Given the description of an element on the screen output the (x, y) to click on. 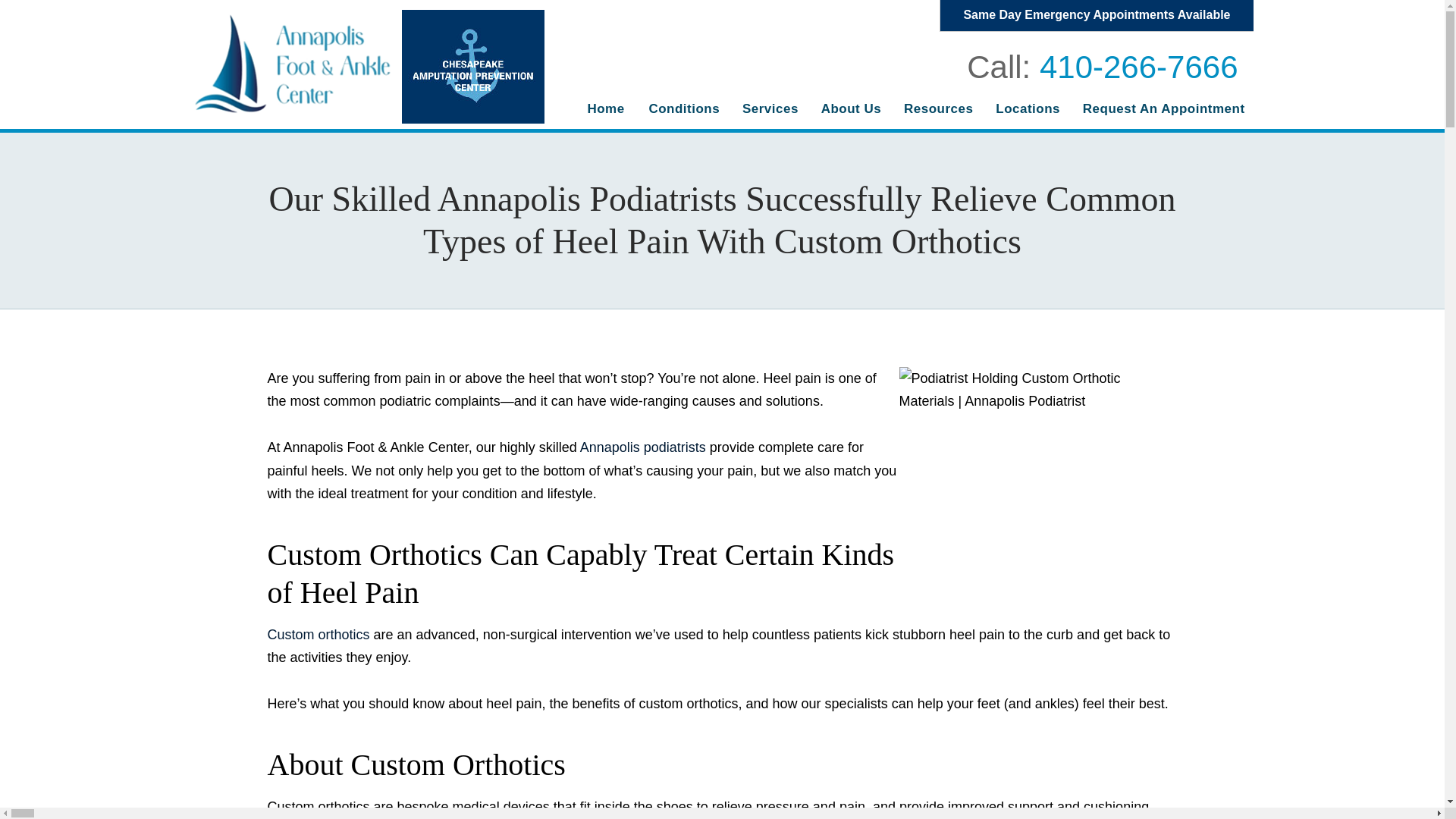
Conditions (683, 109)
410-266-7666 (1139, 67)
Home (605, 109)
Same Day Emergency Appointments Available (1096, 15)
About Us (850, 109)
Resources (937, 109)
Services (769, 109)
